Given the description of an element on the screen output the (x, y) to click on. 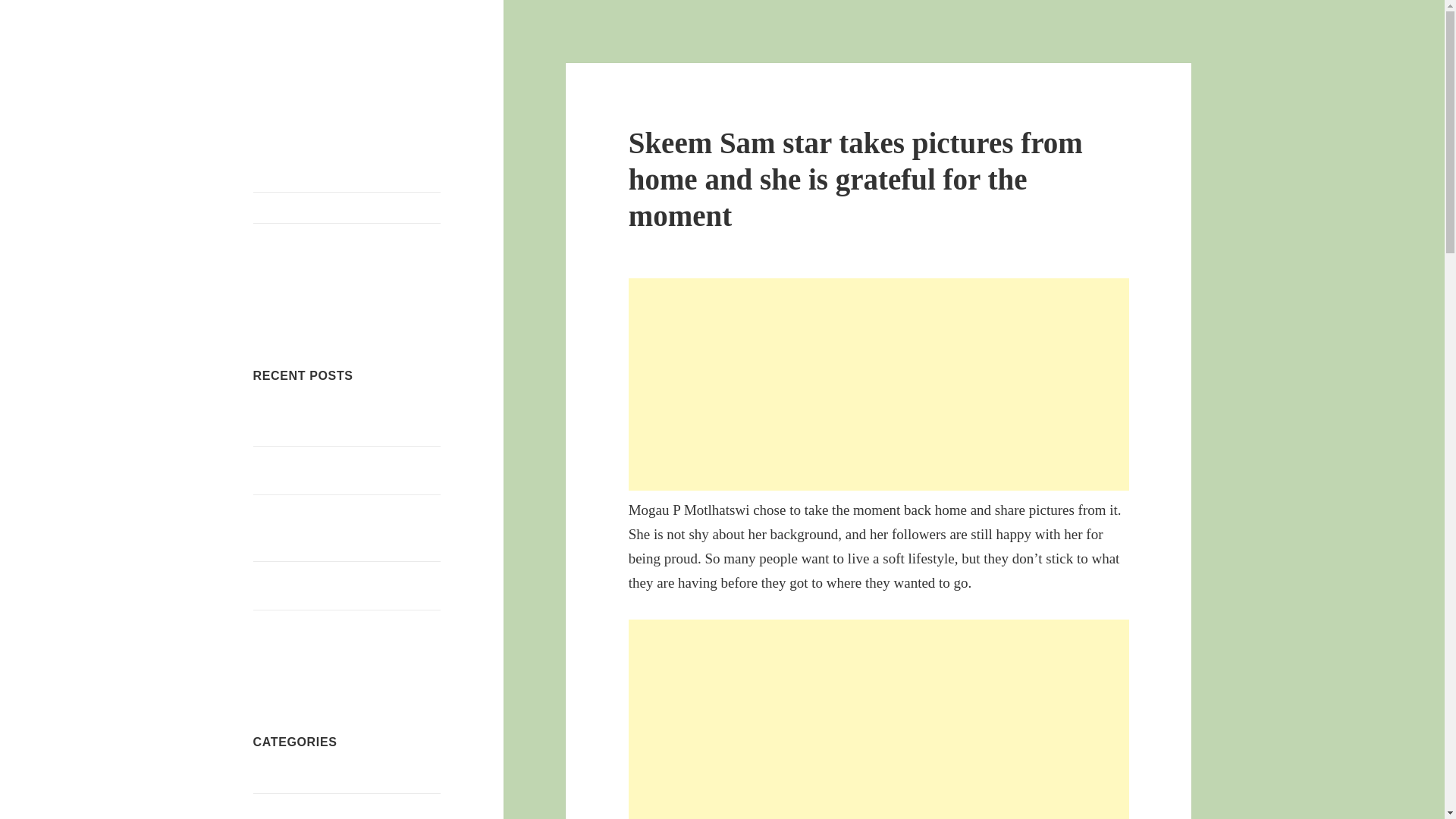
Chidinma not returning to South Africa (331, 469)
Advertisement (878, 719)
Home (347, 207)
Fashion shweshwe (298, 808)
Facebook (307, 304)
fashiong4 (301, 74)
Yelp (271, 304)
Instagram (383, 304)
